Given the description of an element on the screen output the (x, y) to click on. 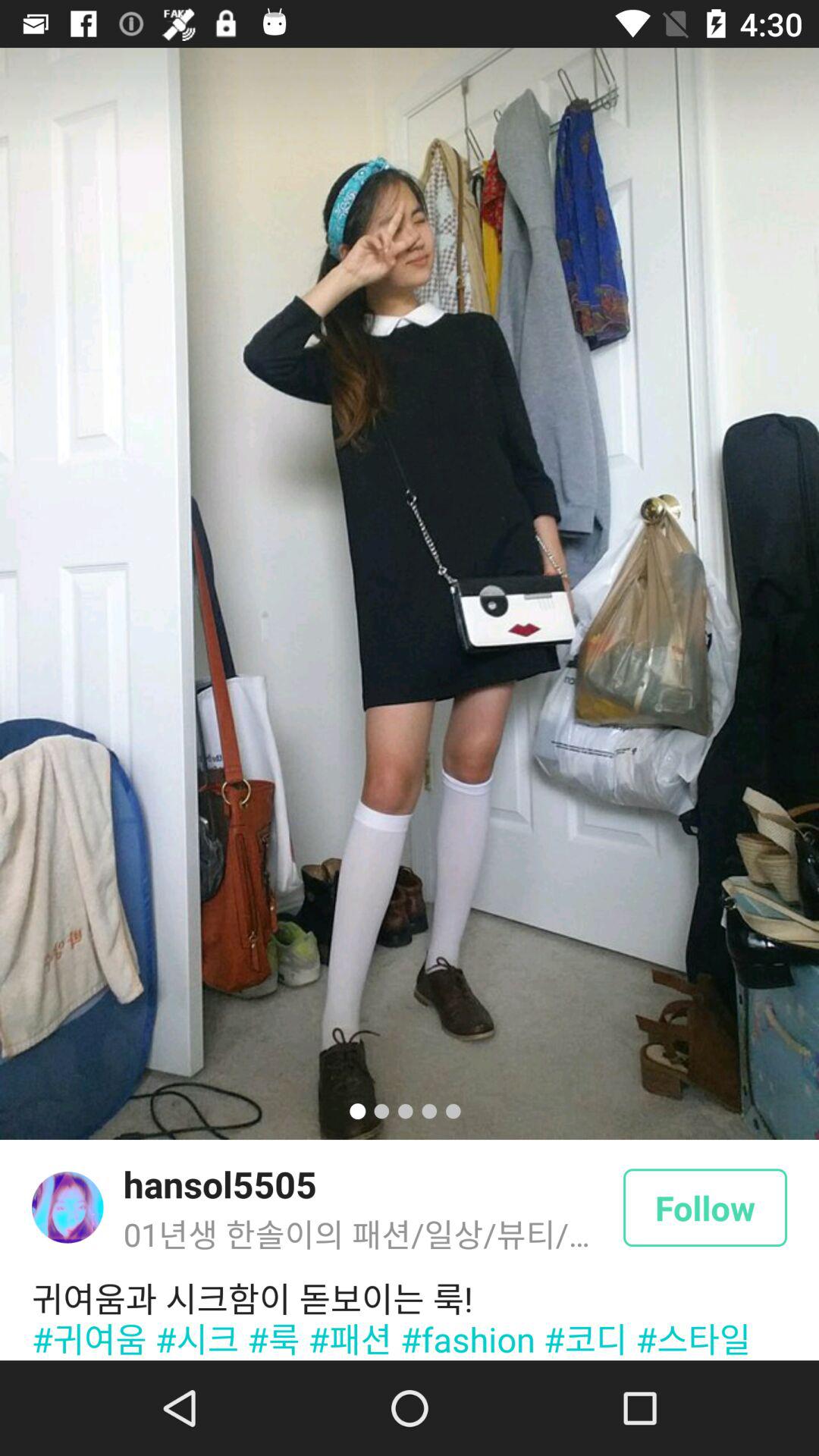
see profile (67, 1207)
